Given the description of an element on the screen output the (x, y) to click on. 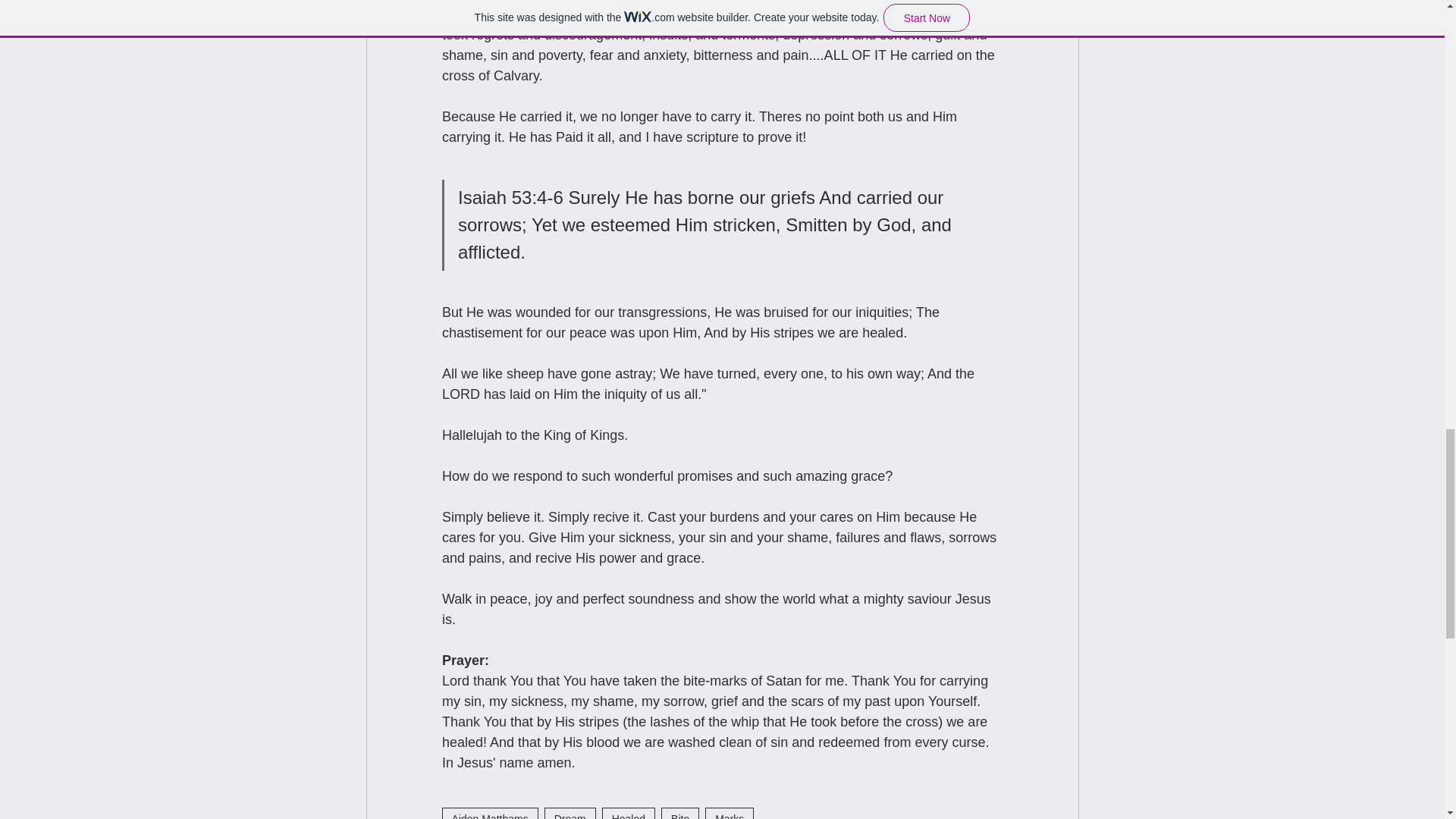
Healed (628, 813)
Bite (679, 813)
Aiden Matthams (489, 813)
Marks (729, 813)
Dream (569, 813)
